Given the description of an element on the screen output the (x, y) to click on. 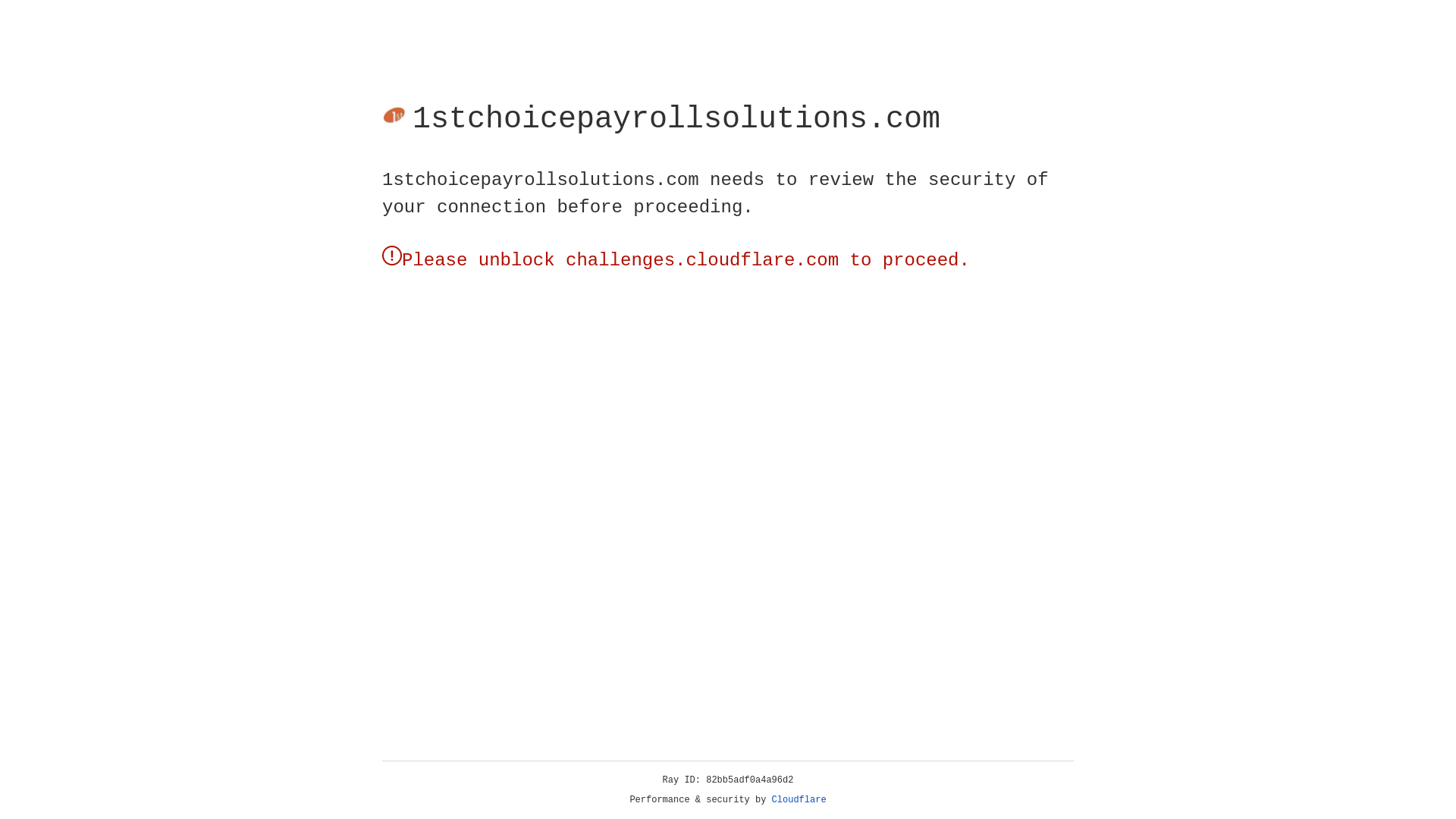
Cloudflare Element type: text (165, 135)
